Given the description of an element on the screen output the (x, y) to click on. 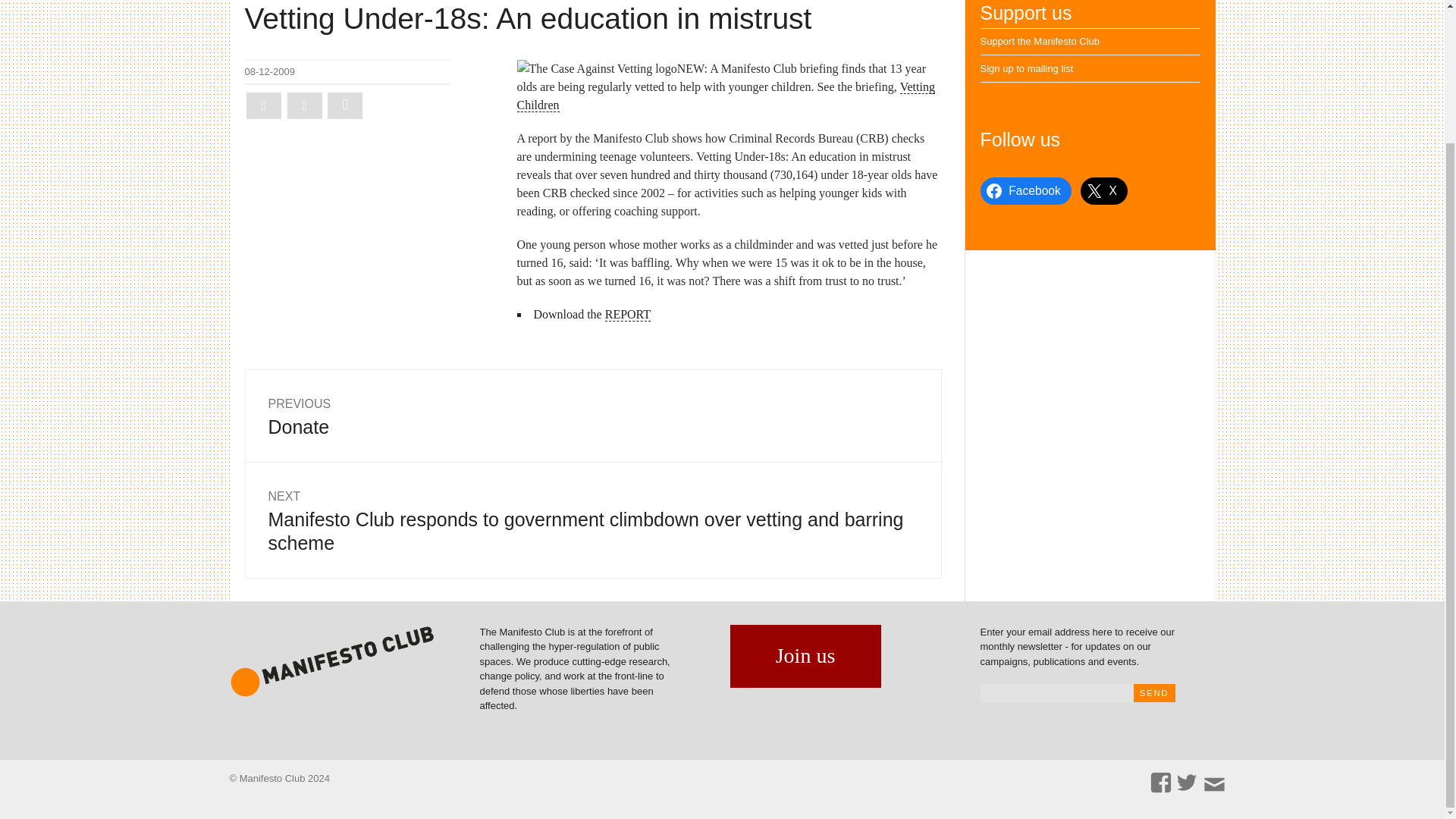
Share via mail (592, 414)
Sign up to mailing list (344, 105)
Send (1026, 68)
Vetting Children (1154, 692)
Facebook (725, 96)
Tweet on Twitter (1024, 190)
REPORT (263, 105)
Share on Facebook (627, 314)
